Given the description of an element on the screen output the (x, y) to click on. 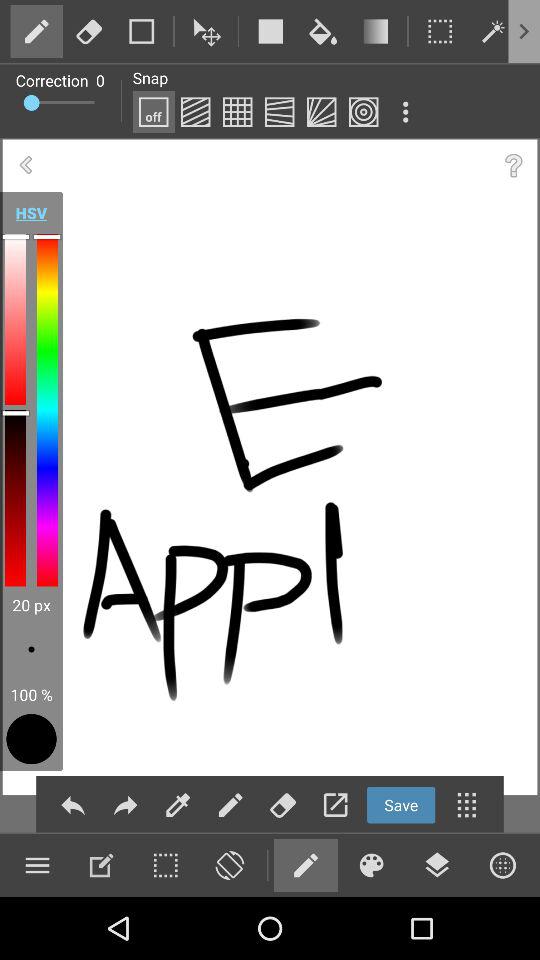
choose color (371, 865)
